Given the description of an element on the screen output the (x, y) to click on. 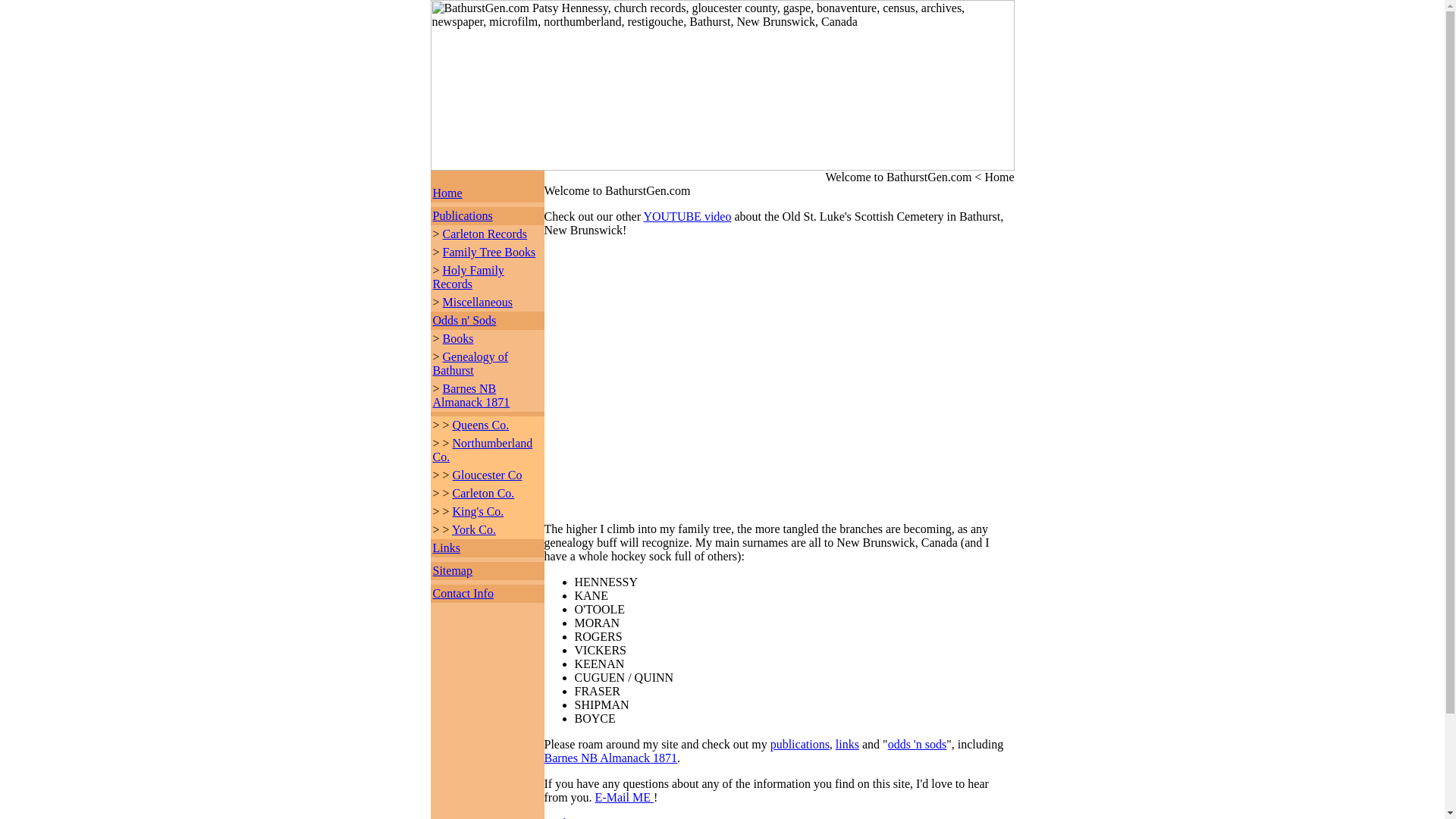
Back to top (571, 817)
E-Mail ME (624, 797)
Carleton Co. (483, 492)
Carleton Records (484, 233)
York Co. (473, 529)
Miscellaneous (477, 301)
King's Co. (477, 511)
Gloucester Co (487, 474)
Holy Family Records (467, 276)
Queens Co. (480, 424)
publications (799, 744)
links (847, 744)
Sitemap (451, 570)
Genealogy of Bathurst (470, 363)
YOUTUBE video (686, 215)
